Given the description of an element on the screen output the (x, y) to click on. 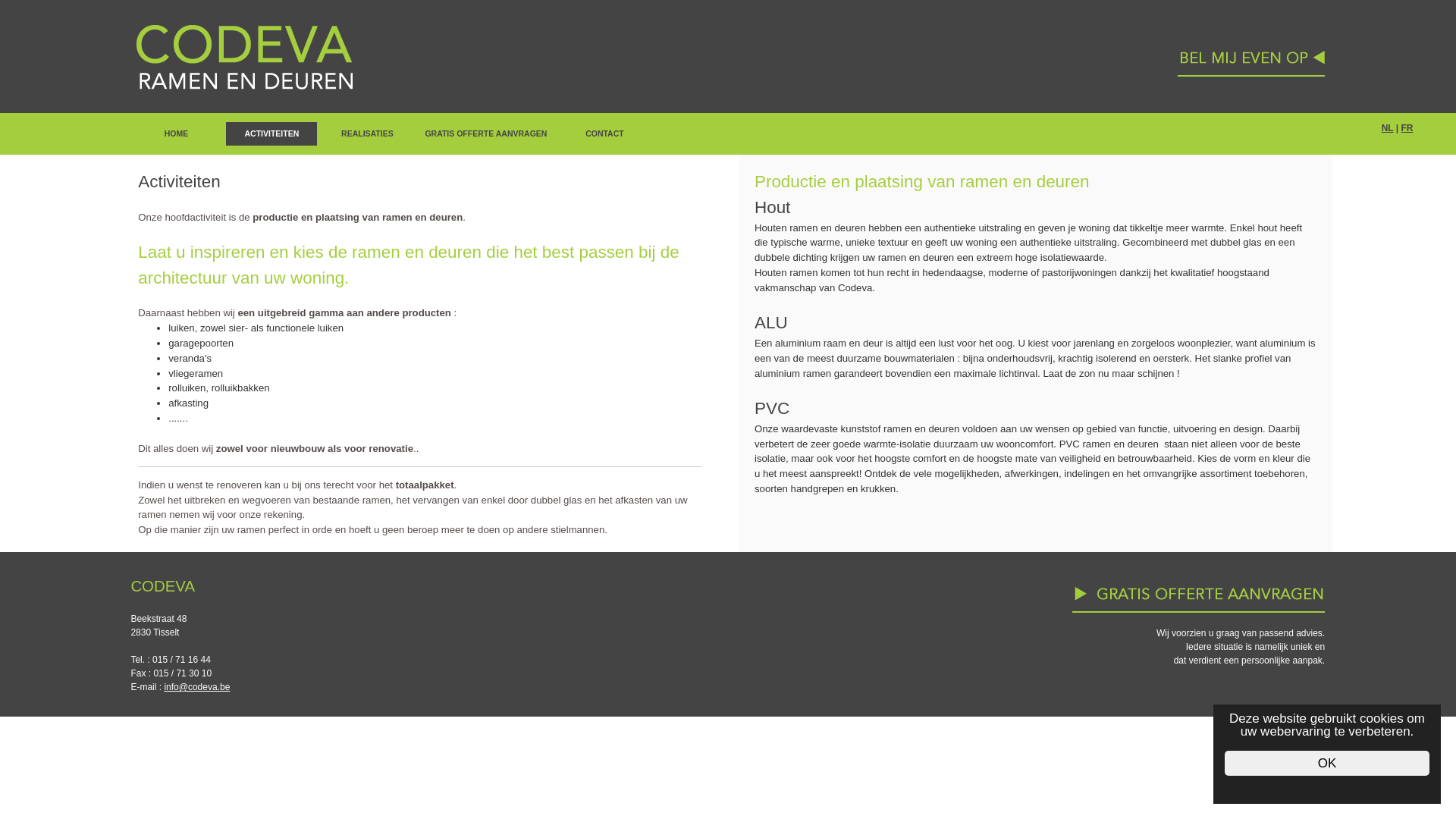
HOME Element type: text (175, 133)
GRATIS OFFERTE AANVRAGEN Element type: text (485, 133)
info@codeva.be Element type: text (196, 686)
ACTIVITEITEN Element type: text (270, 133)
NL Element type: text (1387, 127)
OK Element type: text (1326, 762)
FR Element type: text (1406, 127)
CONTACT Element type: text (603, 133)
REALISATIES Element type: text (366, 133)
